Given the description of an element on the screen output the (x, y) to click on. 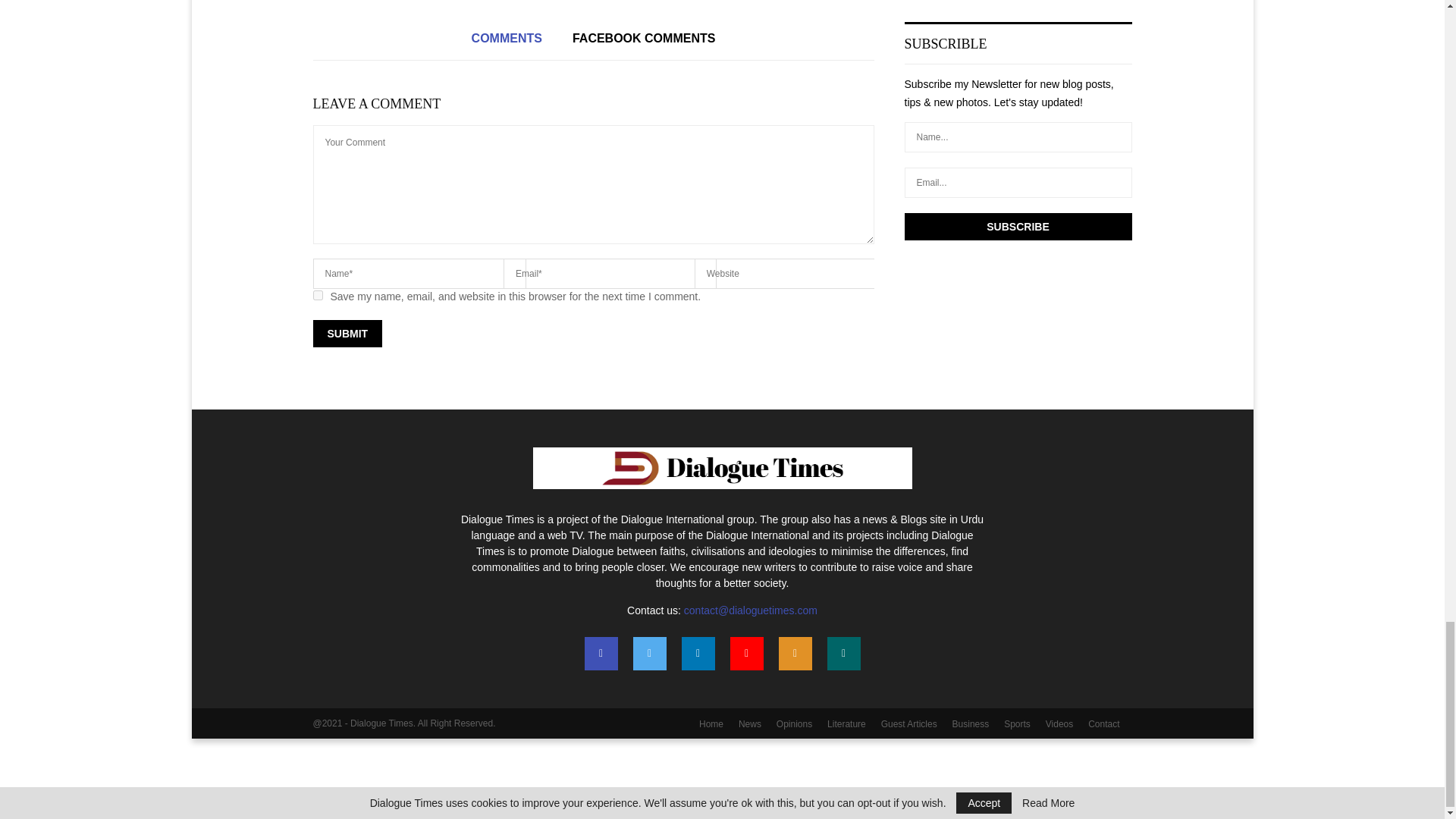
Submit (347, 333)
Subscribe (1017, 226)
yes (317, 295)
